Given the description of an element on the screen output the (x, y) to click on. 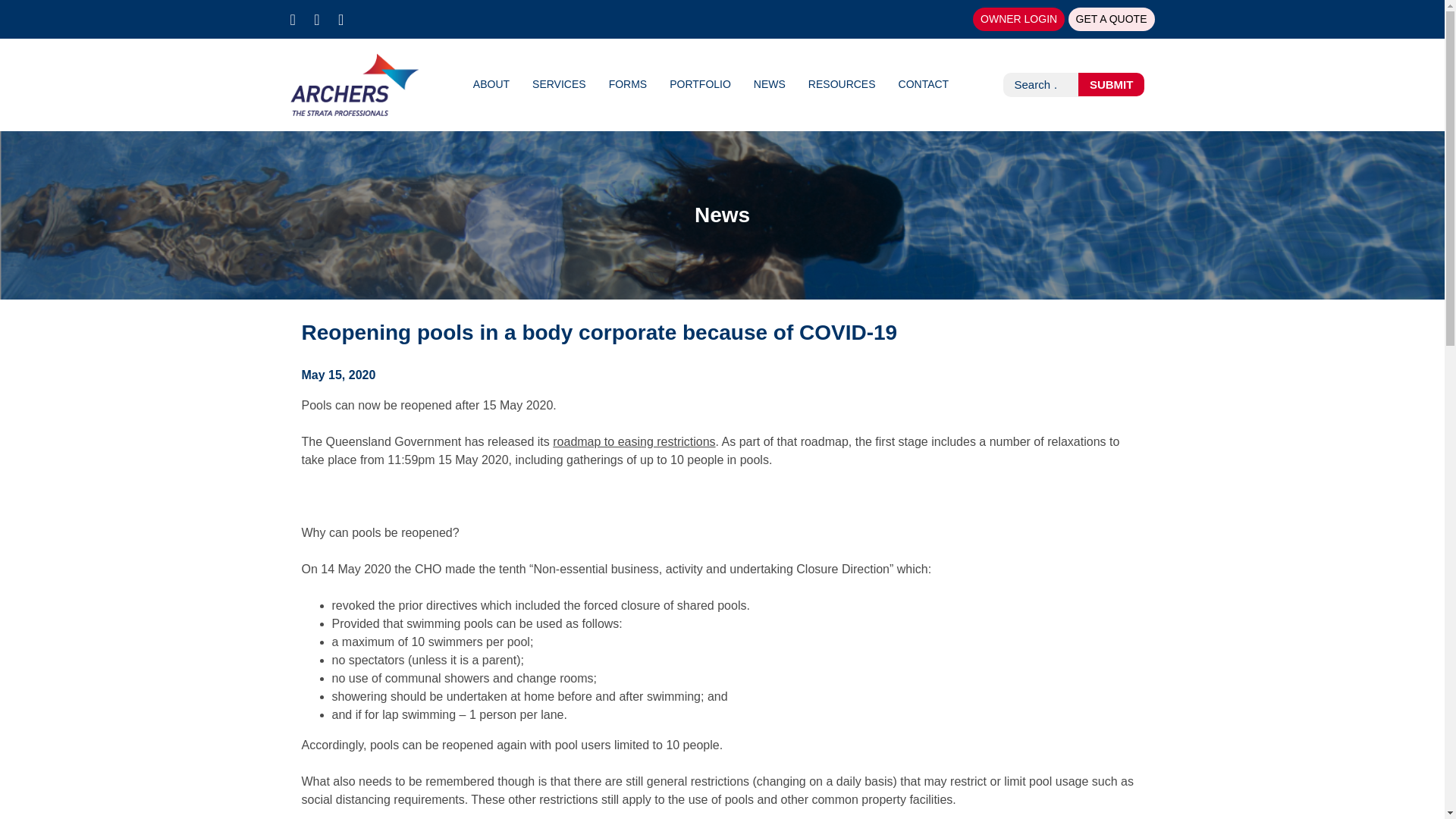
FORMS (627, 83)
RESOURCES (842, 83)
CONTACT (923, 83)
OWNER LOGIN (1018, 19)
NEWS (770, 83)
roadmap to easing restrictions (633, 440)
SUBMIT (1111, 84)
ABOUT (491, 83)
GET A QUOTE (1111, 19)
SERVICES (559, 83)
PORTFOLIO (699, 83)
